Given the description of an element on the screen output the (x, y) to click on. 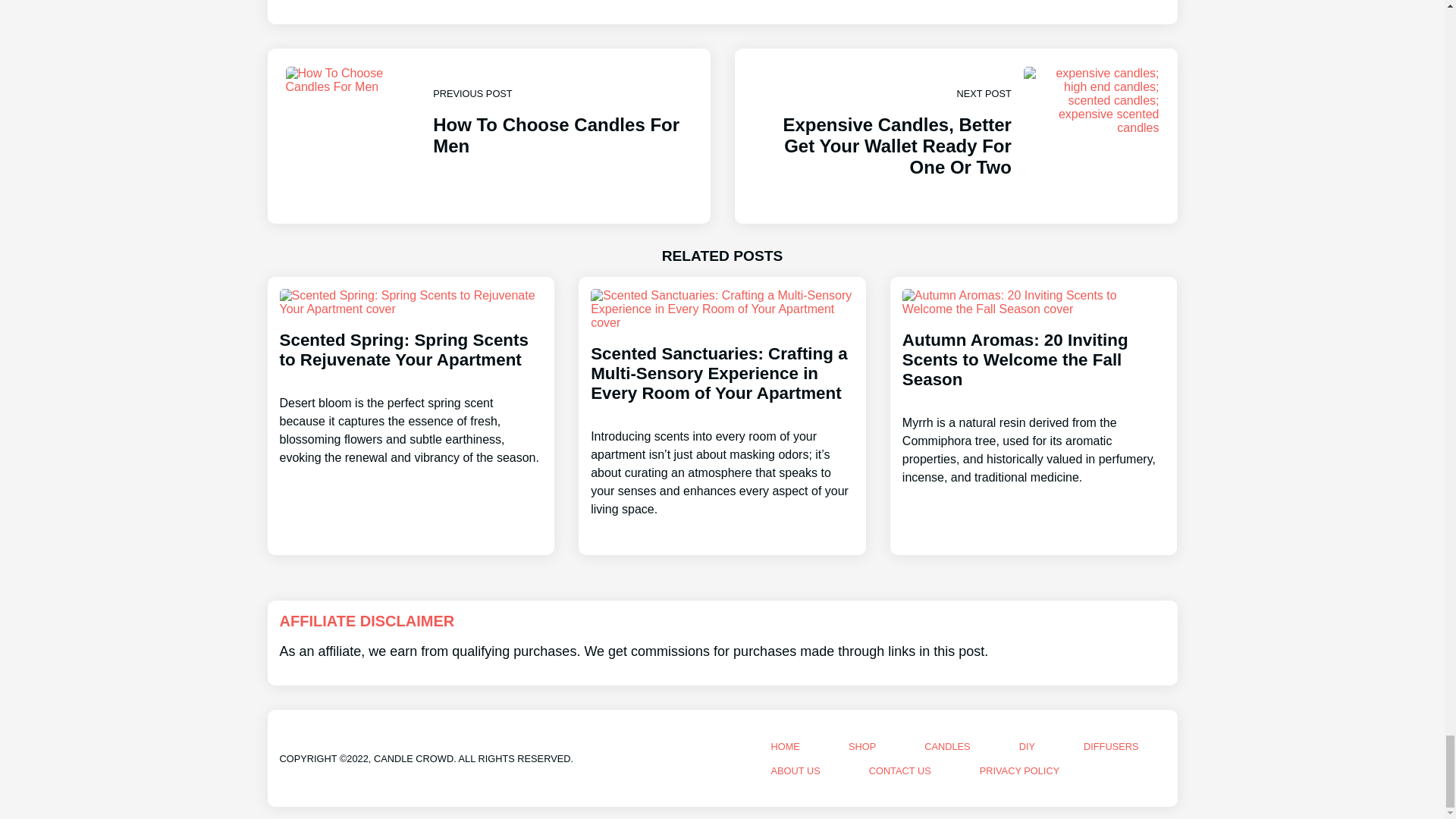
Autumn Aromas: 20 Inviting Scents to Welcome the Fall Season (1034, 394)
Scented Spring: Spring Scents to Rejuvenate Your Apartment (488, 136)
